Given the description of an element on the screen output the (x, y) to click on. 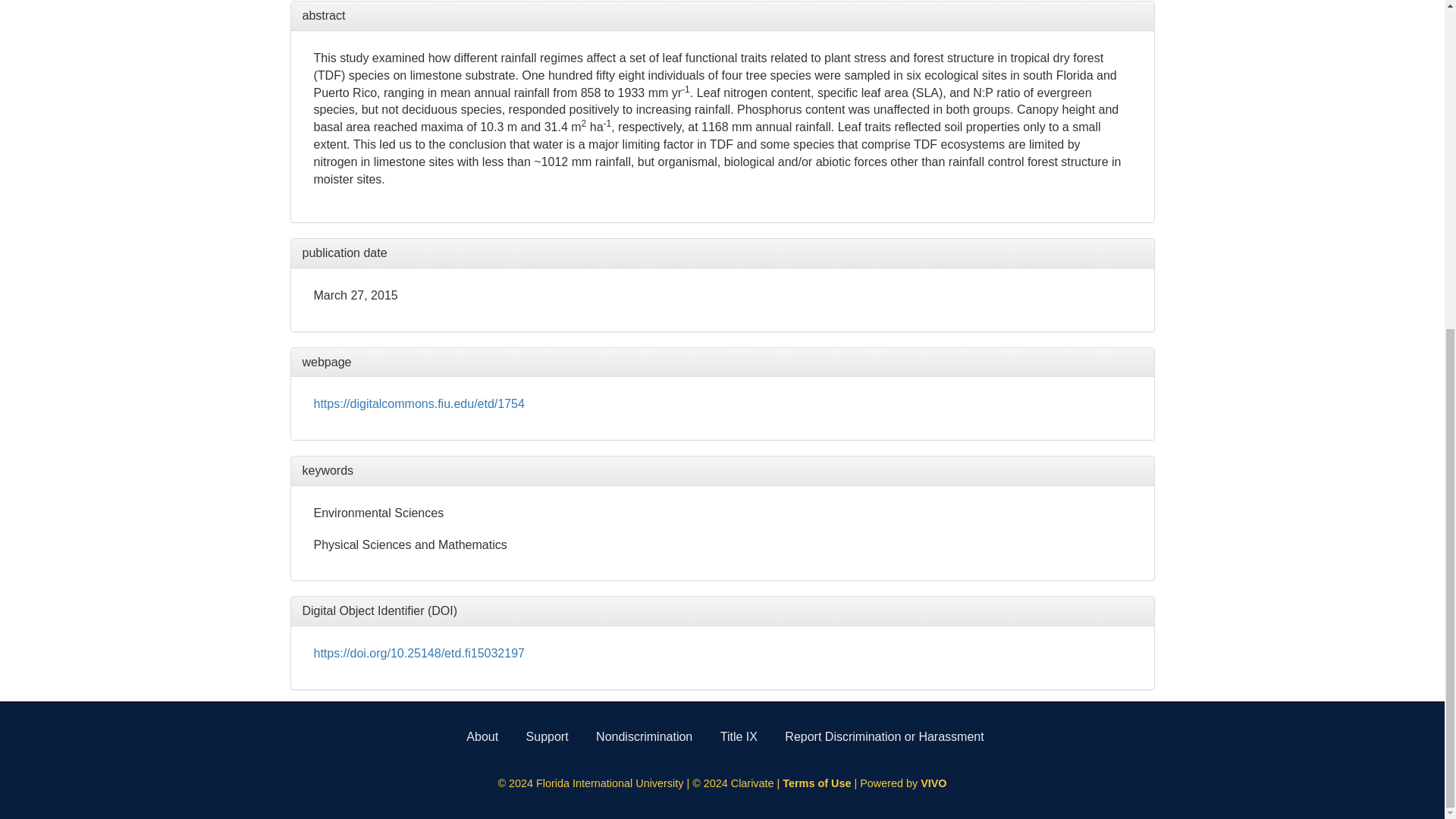
About (481, 736)
About (481, 736)
Report Discrimination or Harassment (884, 736)
Support (547, 736)
Terms of Use (818, 783)
Support (547, 736)
link text (419, 403)
Nondiscrimination (644, 736)
Title IX (738, 736)
VIVO (933, 783)
